Given the description of an element on the screen output the (x, y) to click on. 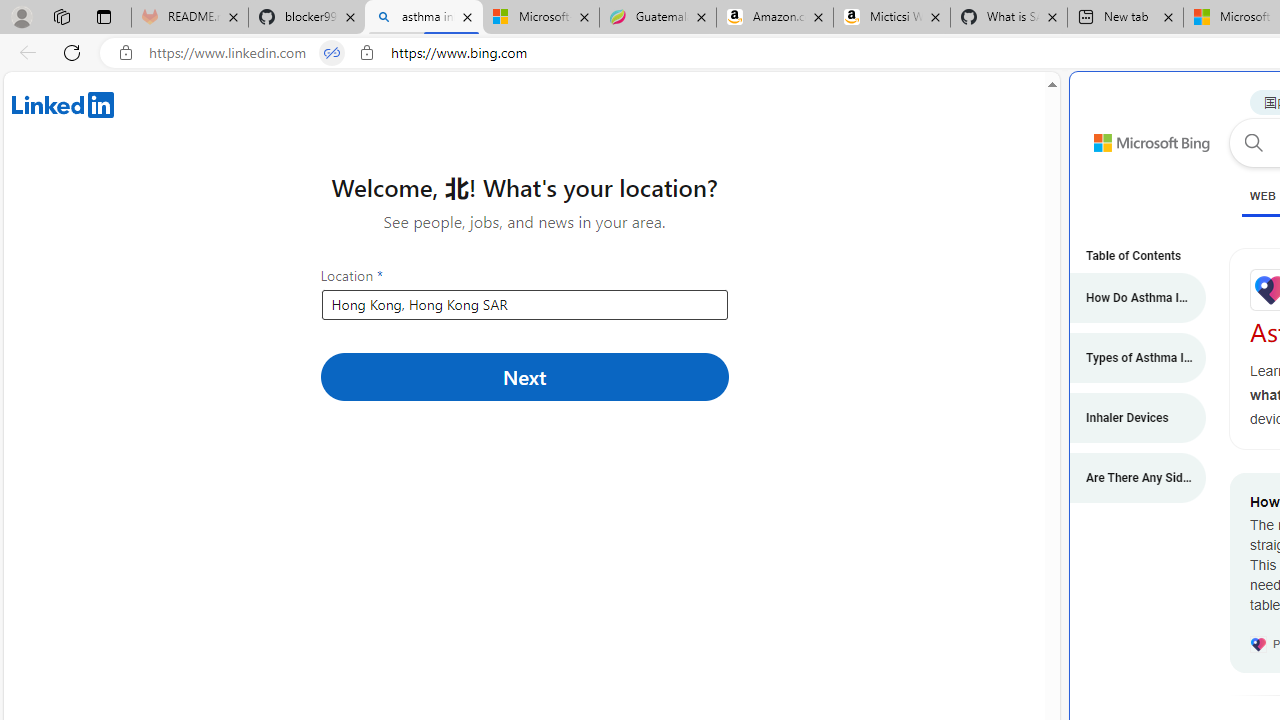
Are There Any Side-Effects from Asthma Inhalers? (1127, 477)
Back to Bing search (1139, 138)
Inhaler Devices (1127, 417)
How Do Asthma Inhalers Work? (1127, 297)
